Given the description of an element on the screen output the (x, y) to click on. 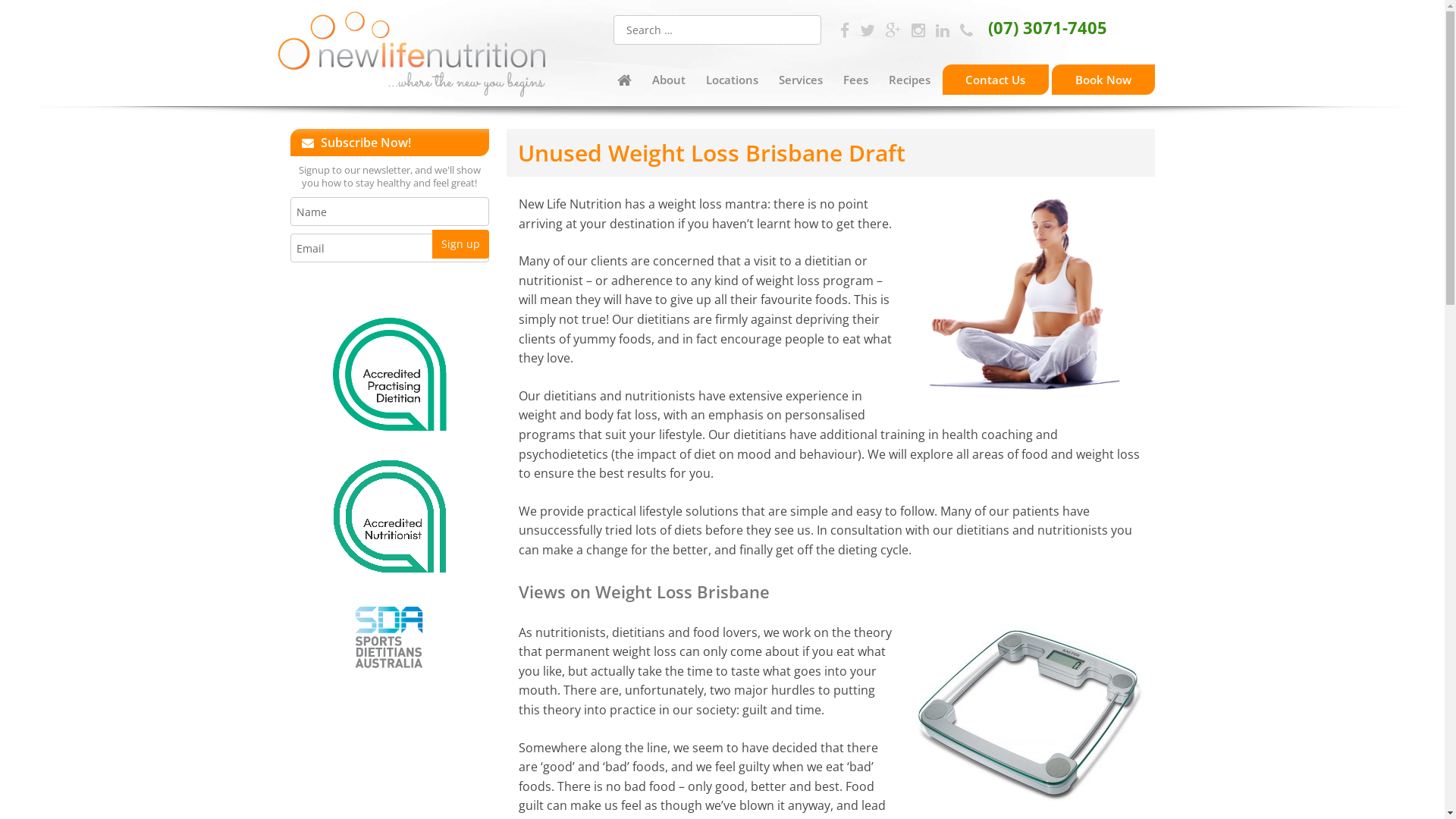
Book Now Element type: text (1102, 79)
(07) 3071-7405 Element type: text (1032, 26)
New Life Nutrition Element type: hover (410, 56)
Sign up Element type: text (460, 243)
Recipes Element type: text (909, 79)
Fees Element type: text (855, 79)
Services Element type: text (800, 79)
Locations Element type: text (732, 79)
About Element type: text (668, 79)
Contact Us Element type: text (995, 79)
Search Element type: text (30, 14)
